Given the description of an element on the screen output the (x, y) to click on. 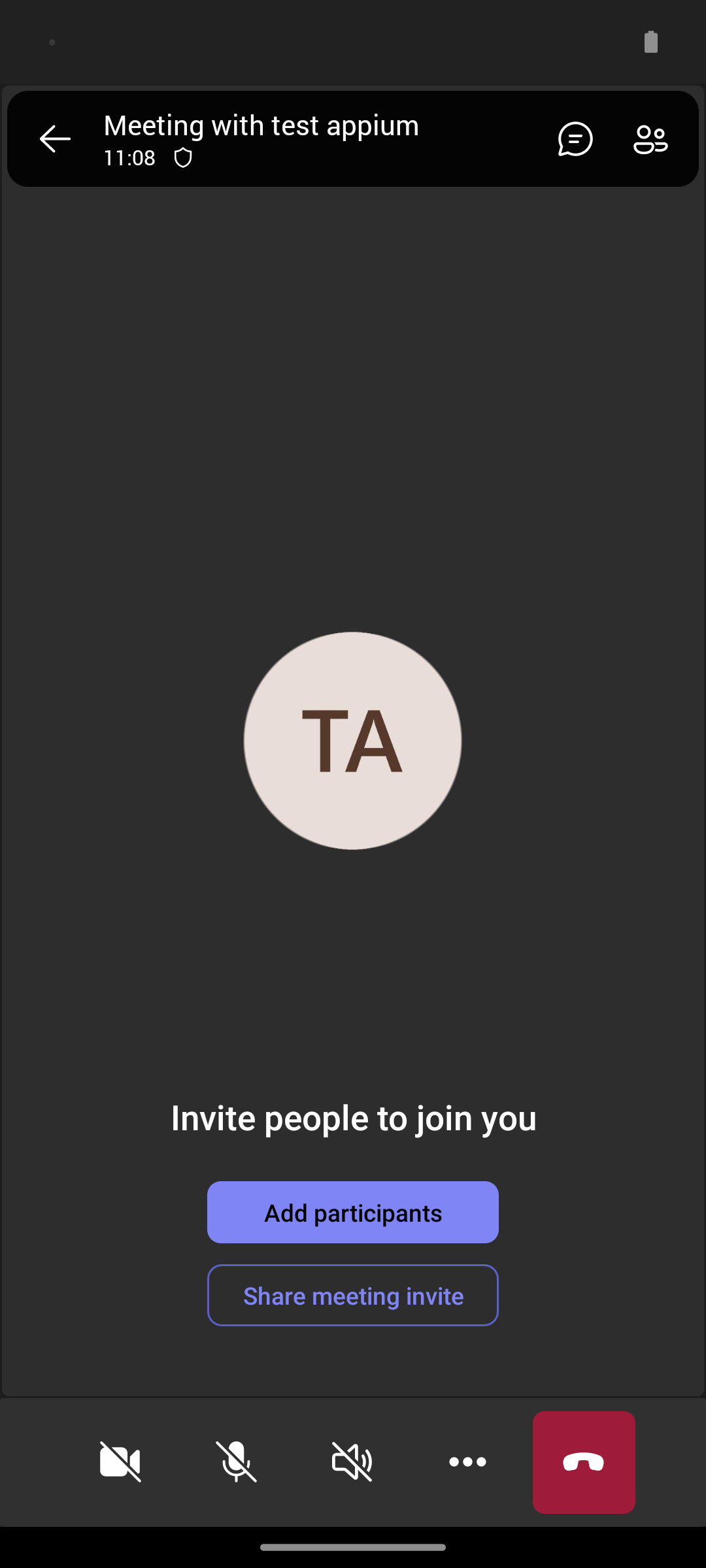
Back (55, 138)
Chat (570, 138)
Show participants (655, 138)
Add participants (352, 1211)
Share meeting invite (352, 1294)
Turn on camera (120, 1462)
Unmute (236, 1462)
Audio (352, 1462)
More options (468, 1462)
Hang up (584, 1462)
